Given the description of an element on the screen output the (x, y) to click on. 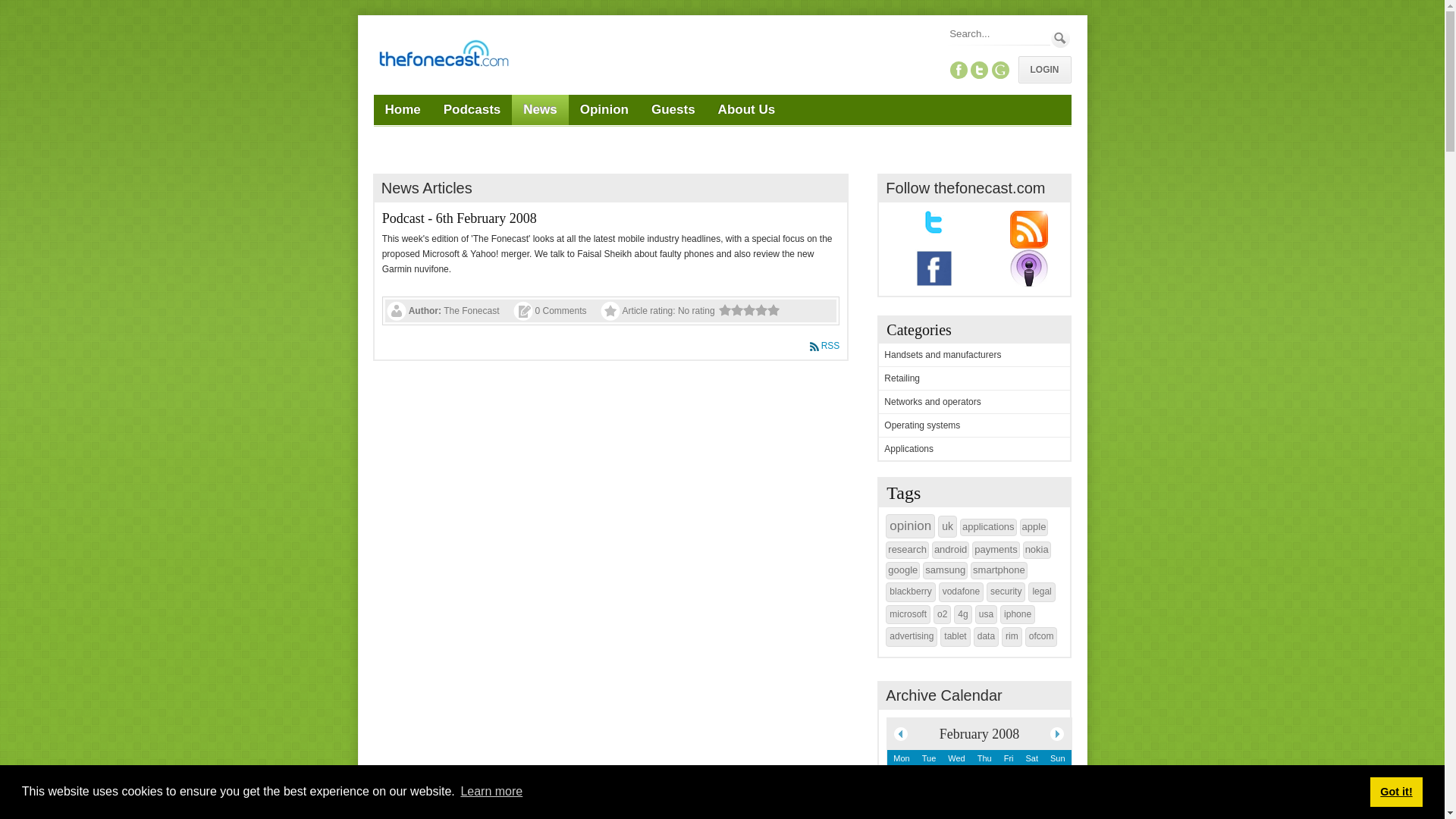
Guests (673, 110)
Google (1000, 69)
Got it! (1396, 791)
Podcast - 6th February 2008 (459, 218)
Search (1060, 37)
Networks and operators (931, 401)
Handsets and manufacturers (942, 354)
Learn more (491, 791)
News (539, 110)
RSS (824, 345)
TheFonecast.com (442, 55)
Twitter (979, 69)
Retailing (901, 378)
LOGIN (1043, 69)
Home (401, 110)
